Given the description of an element on the screen output the (x, y) to click on. 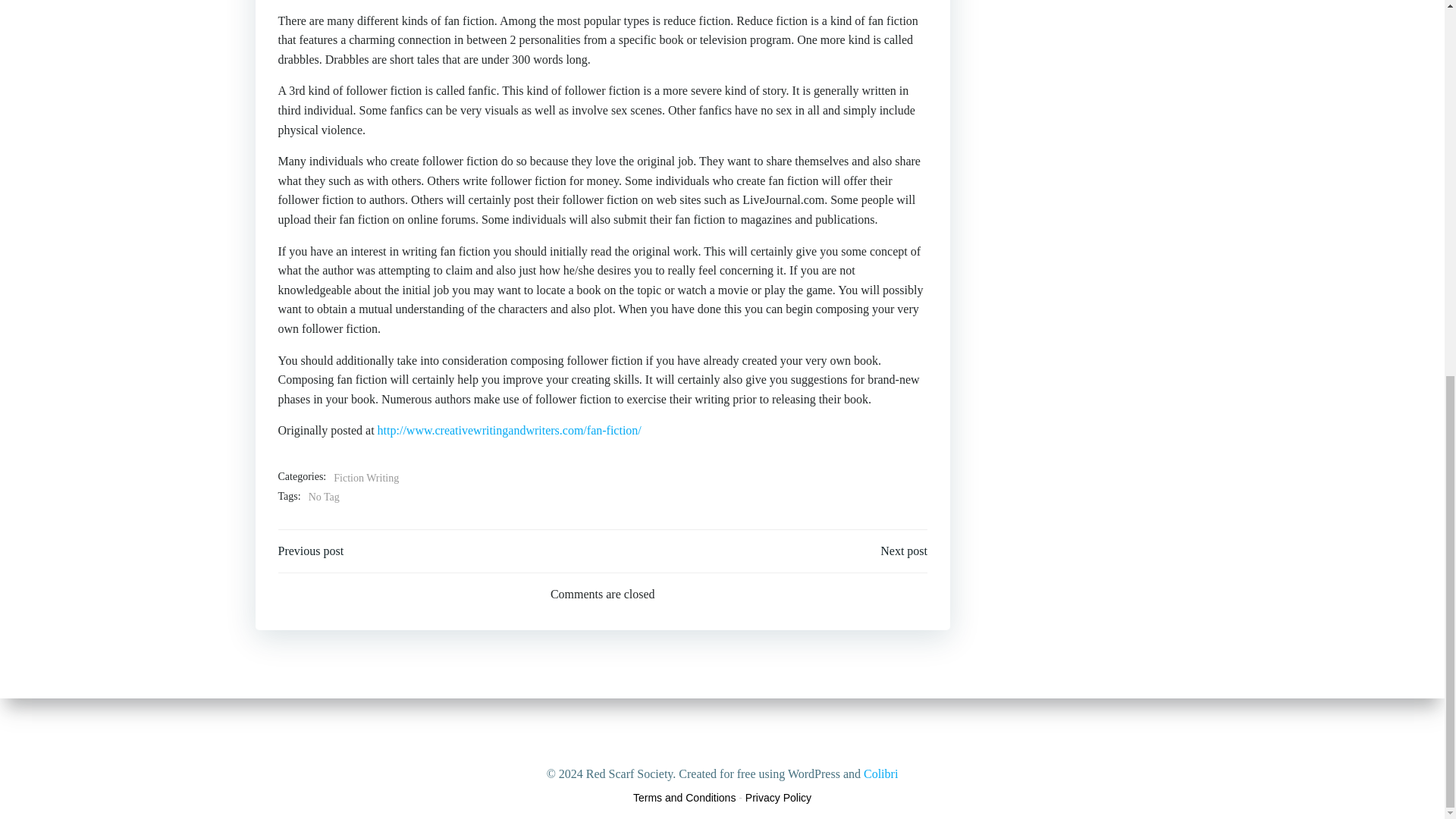
Next post (903, 551)
Privacy Policy (777, 797)
Previous post (310, 551)
Fiction Writing (365, 478)
Terms and Conditions (684, 797)
Colibri (880, 81)
